Given the description of an element on the screen output the (x, y) to click on. 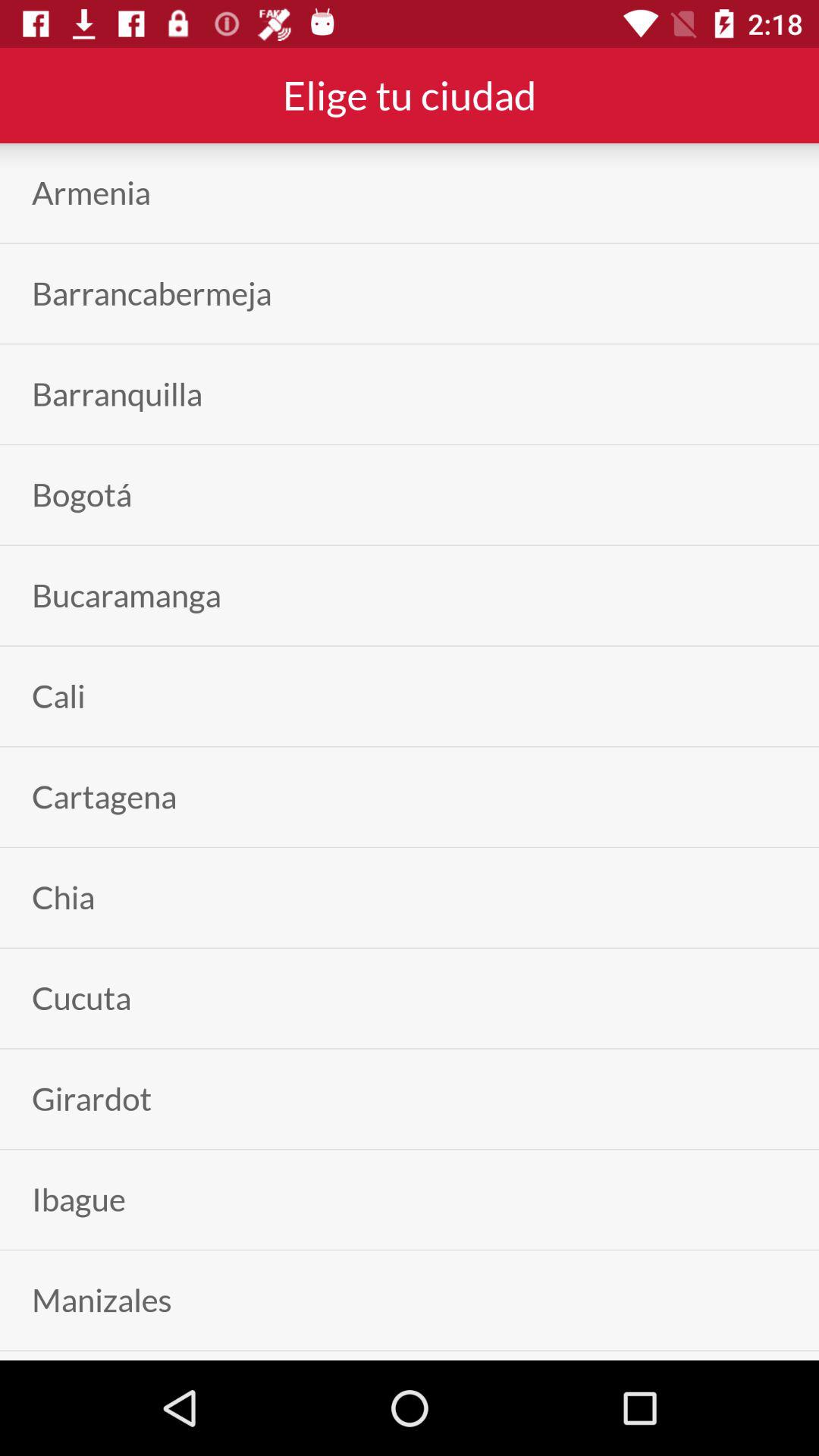
flip until the manizales app (101, 1300)
